Given the description of an element on the screen output the (x, y) to click on. 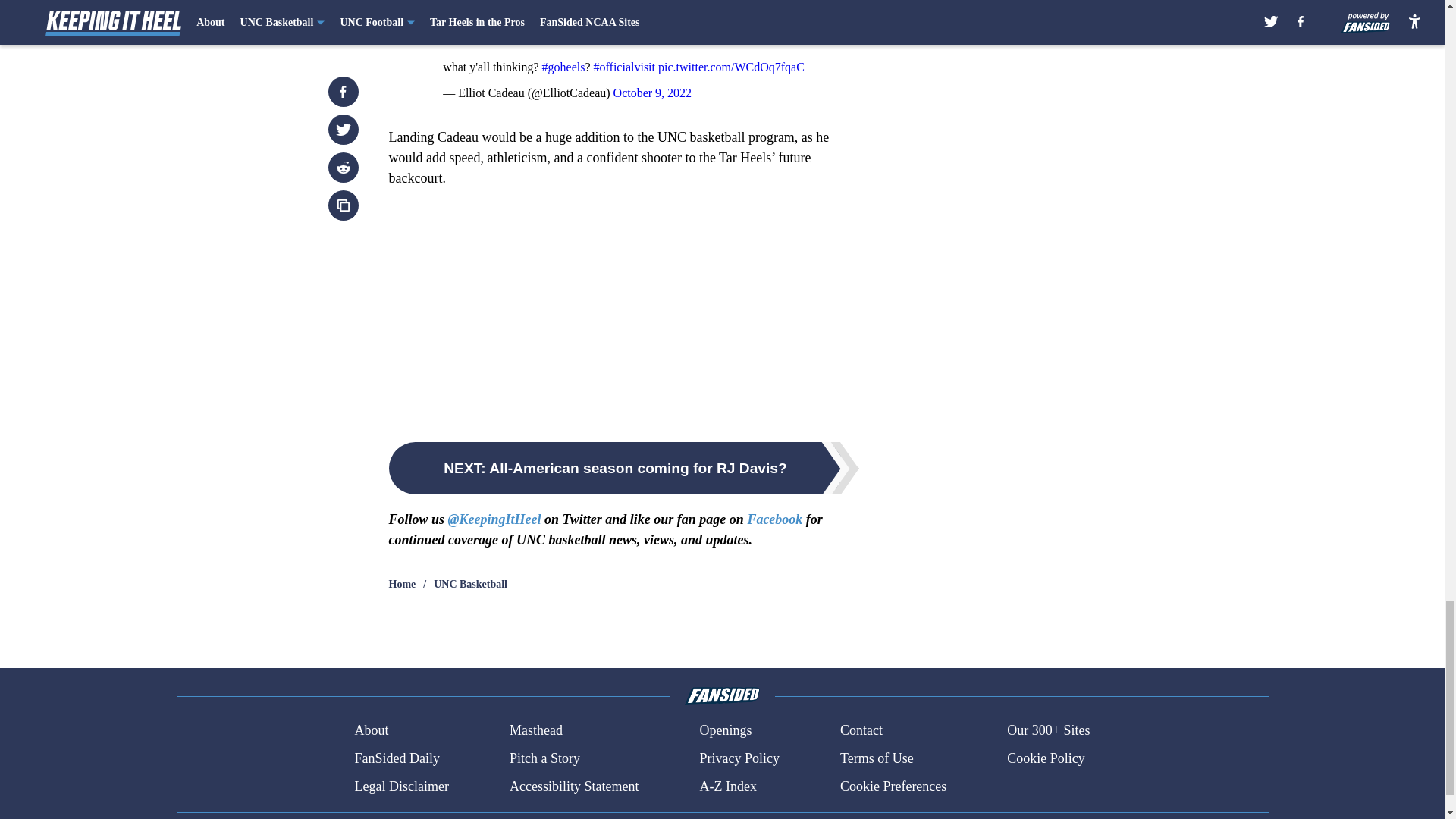
NEXT: All-American season coming for RJ Davis? (623, 468)
About (370, 730)
October 9, 2022 (652, 92)
Facebook (774, 519)
UNC Basketball (469, 584)
Masthead (535, 730)
Home (401, 584)
